Given the description of an element on the screen output the (x, y) to click on. 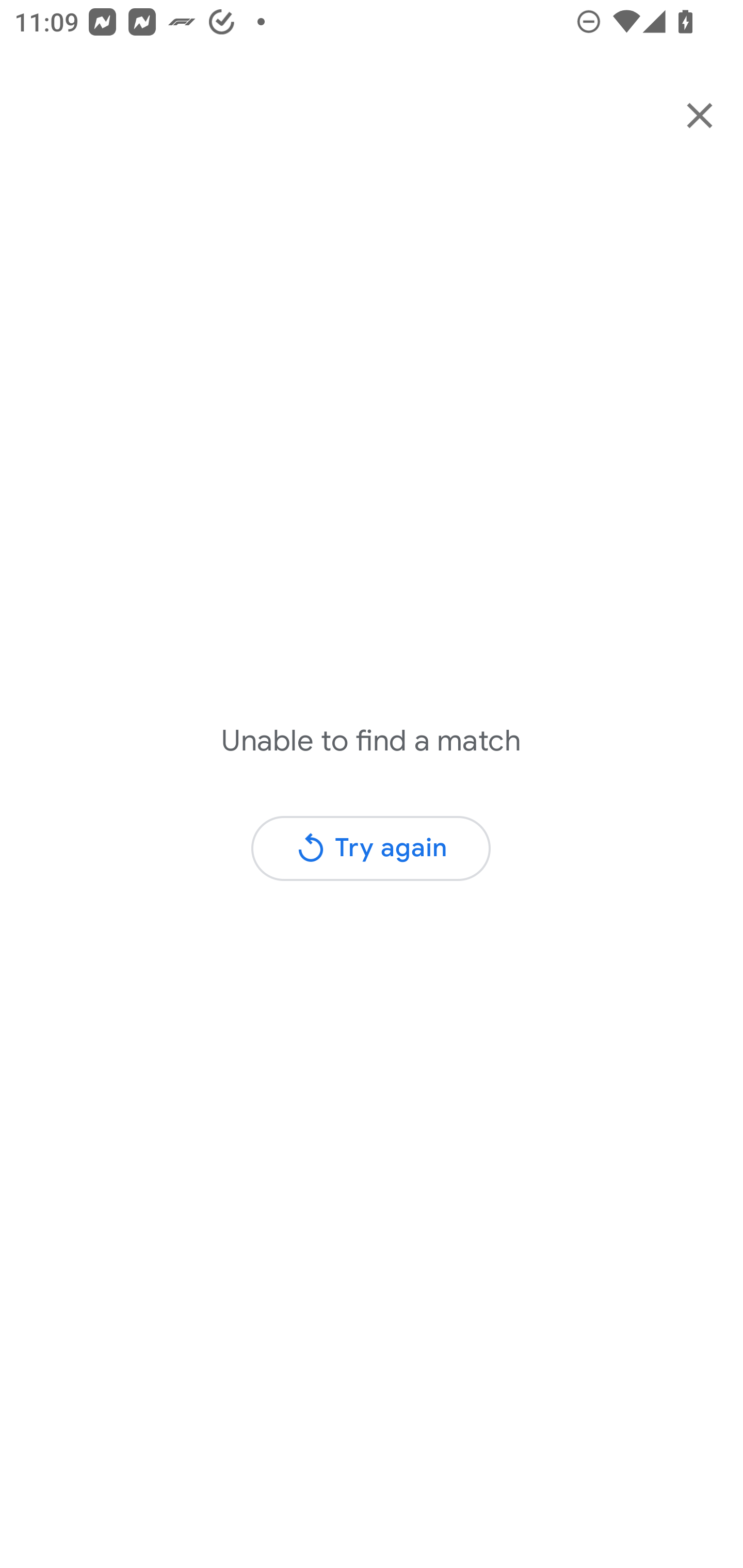
Close (699, 115)
Try again (370, 848)
